Given the description of an element on the screen output the (x, y) to click on. 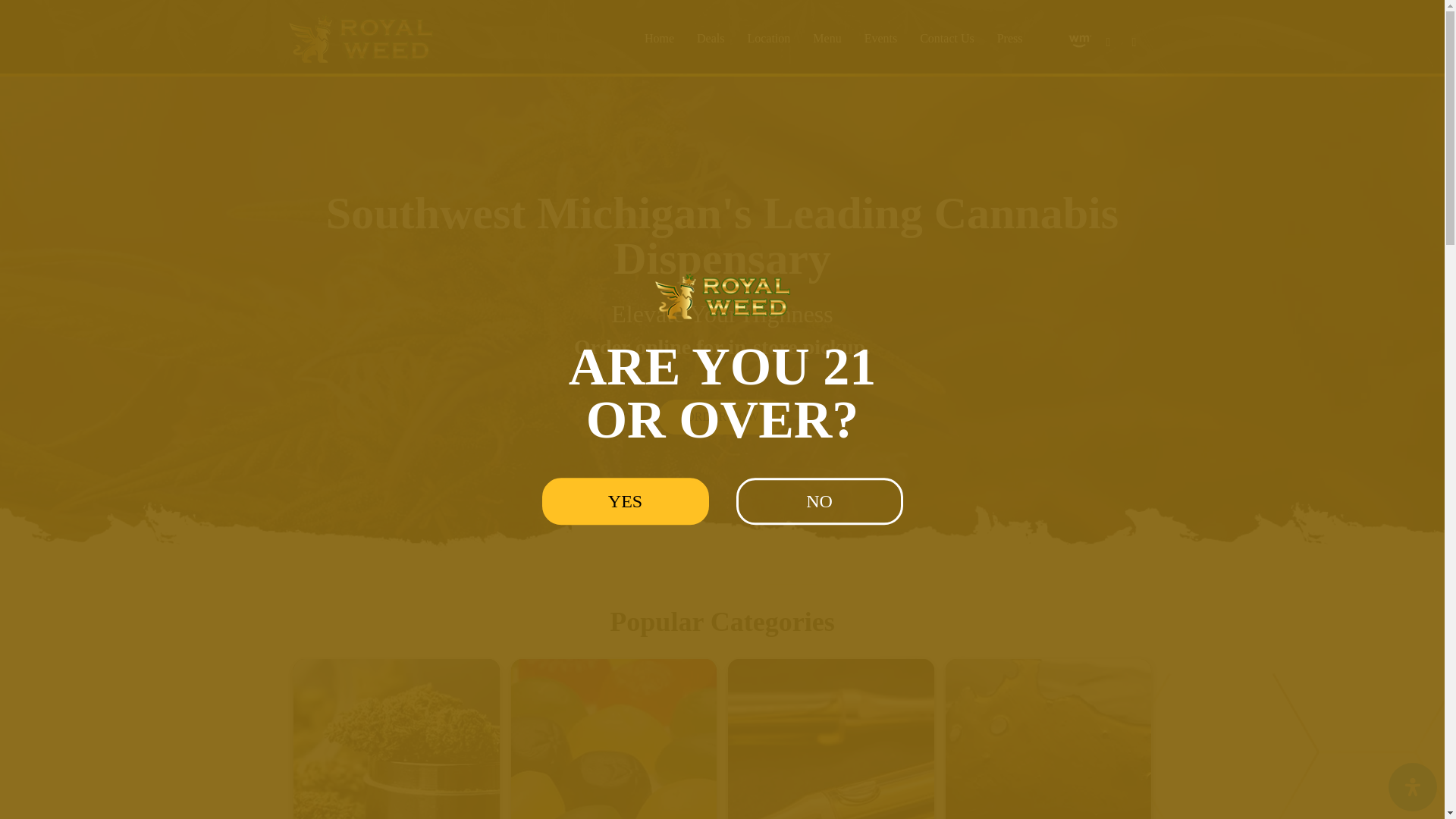
ORDER NOW (722, 416)
Location (768, 38)
Press (1009, 38)
Events (880, 38)
Home (659, 38)
Contact Us (946, 38)
Menu (826, 38)
Deals (710, 38)
